Given the description of an element on the screen output the (x, y) to click on. 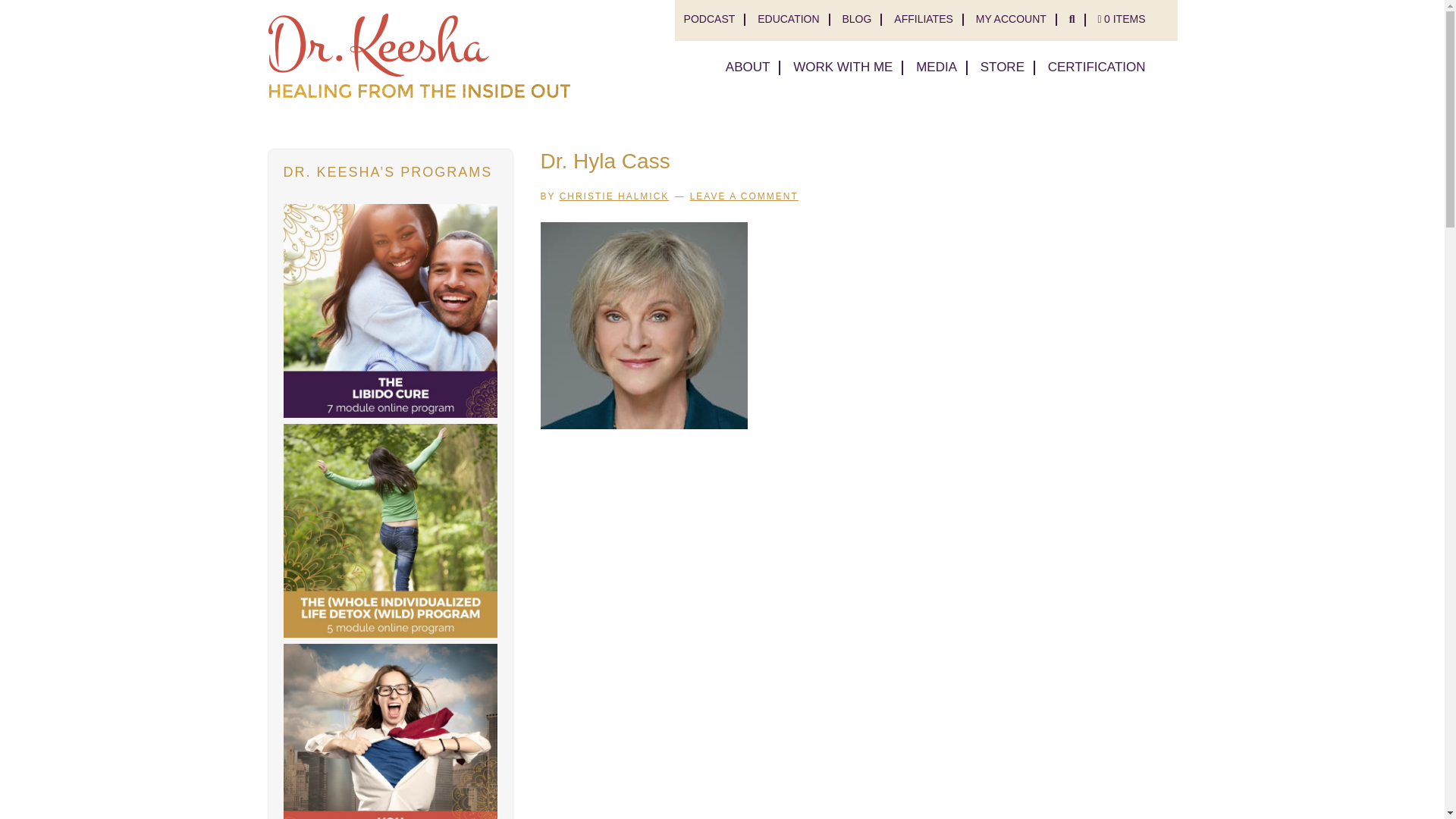
Start shopping (1120, 20)
PODCAST (709, 19)
0 ITEMS (1120, 20)
ABOUT (747, 67)
MEDIA (935, 67)
WORK WITH ME (842, 67)
DR. KEESHA (419, 55)
EDUCATION (787, 19)
MY ACCOUNT (1010, 19)
BLOG (855, 19)
AFFILIATES (923, 19)
